Given the description of an element on the screen output the (x, y) to click on. 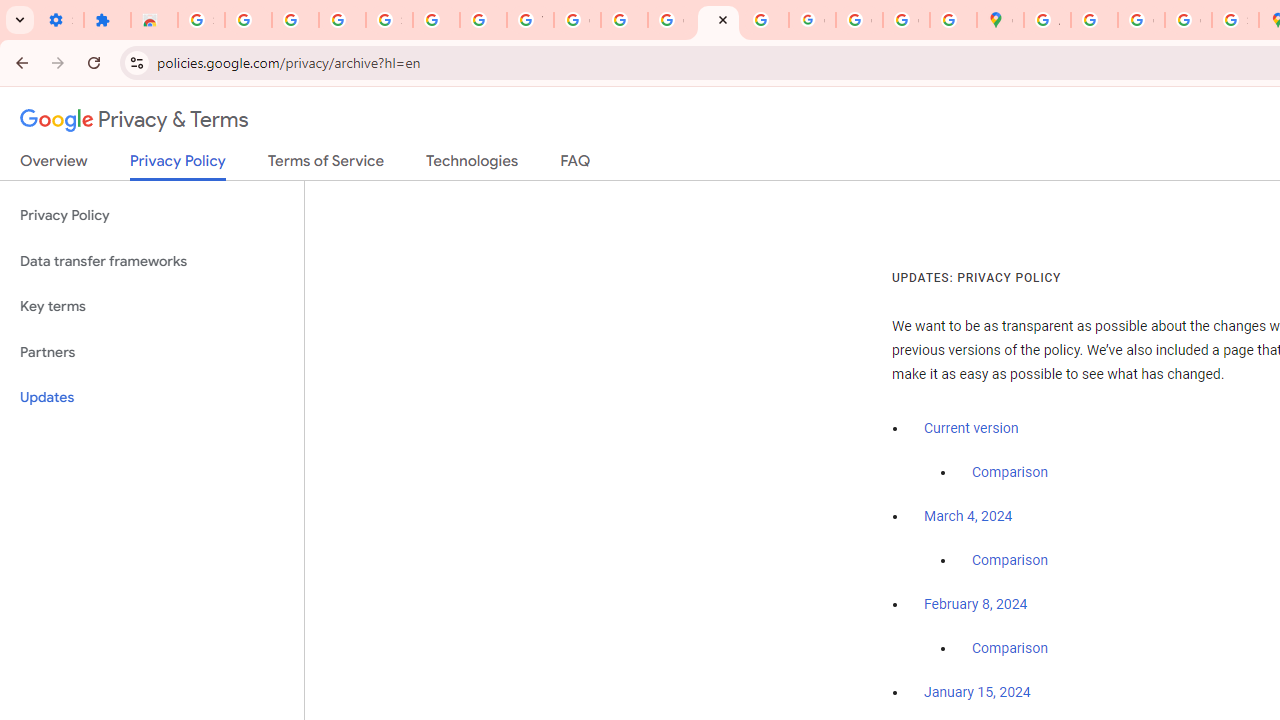
Comparison (1009, 649)
Safety in Our Products - Google Safety Center (1235, 20)
Current version (971, 428)
Sign in - Google Accounts (201, 20)
Delete photos & videos - Computer - Google Photos Help (248, 20)
